Given the description of an element on the screen output the (x, y) to click on. 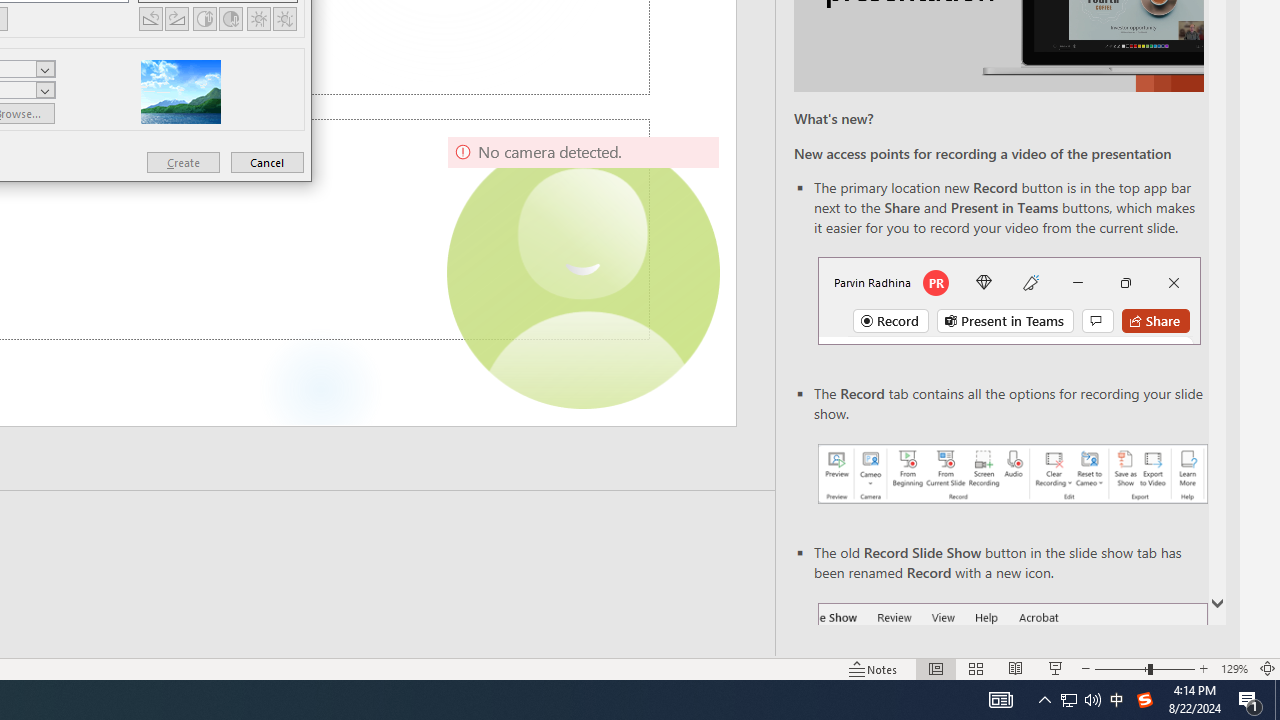
Record your presentations screenshot one (1012, 473)
More Contrast (204, 18)
More Brightness (258, 18)
Less Contrast (230, 18)
